Given the description of an element on the screen output the (x, y) to click on. 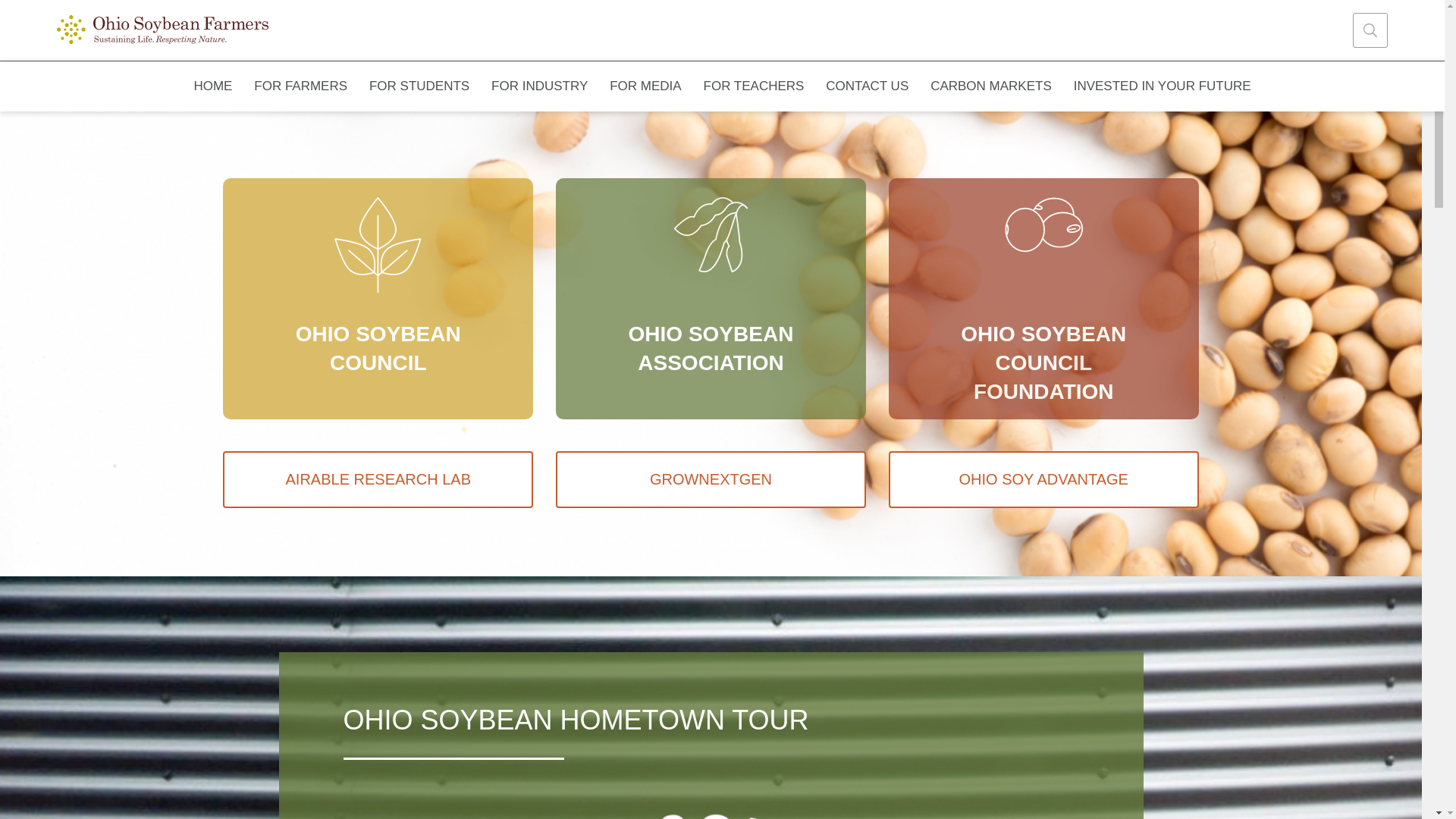
HOME (213, 86)
CONTACT US (867, 86)
FOR INDUSTRY (539, 86)
FOR FARMERS (300, 86)
CARBON MARKETS (991, 86)
FOR TEACHERS (753, 86)
INVESTED IN YOUR FUTURE (1161, 86)
FOR MEDIA (645, 86)
FOR STUDENTS (418, 86)
